Given the description of an element on the screen output the (x, y) to click on. 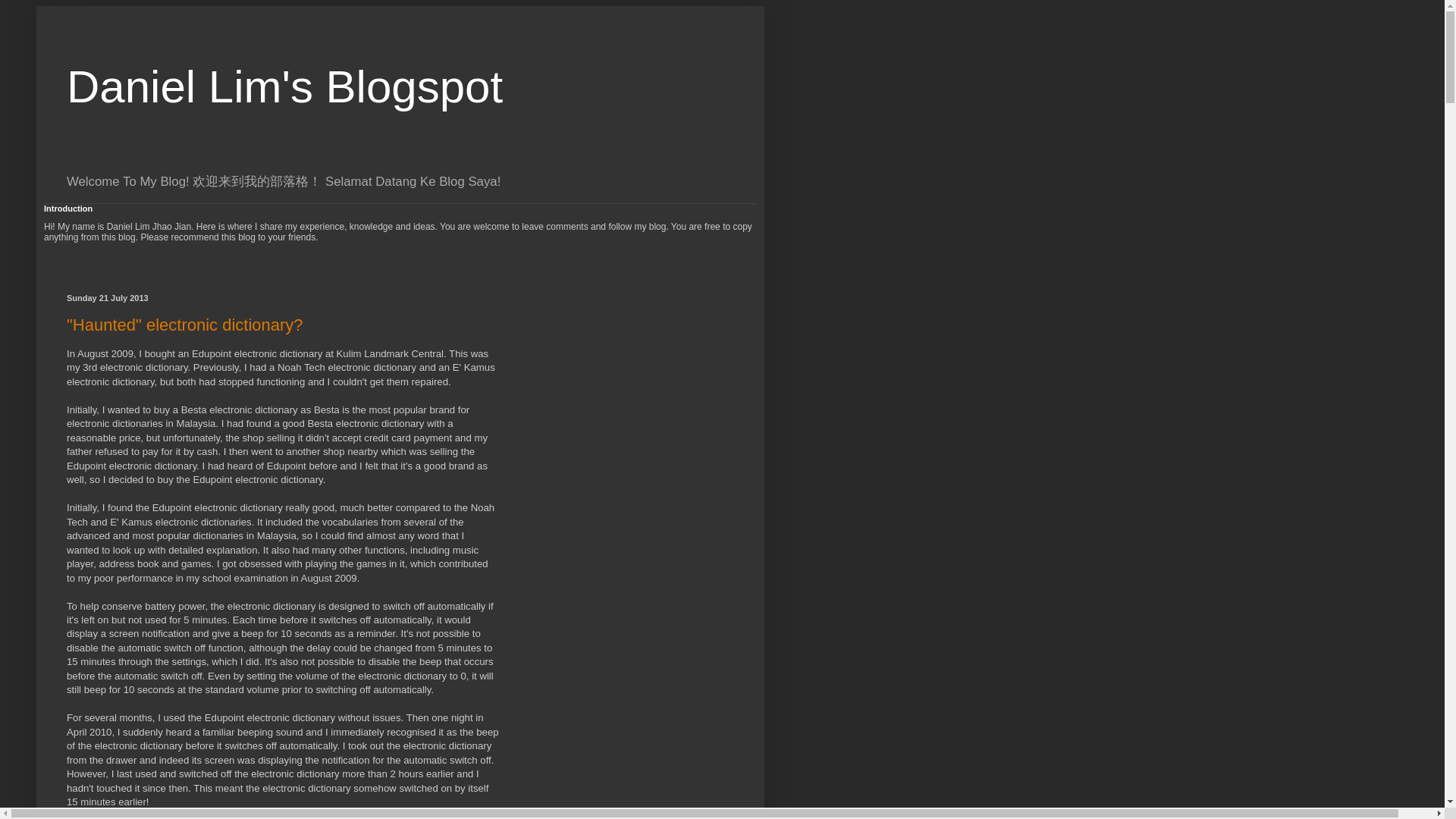
Daniel Lim's Blogspot (284, 86)
"Haunted" electronic dictionary? (184, 324)
